Given the description of an element on the screen output the (x, y) to click on. 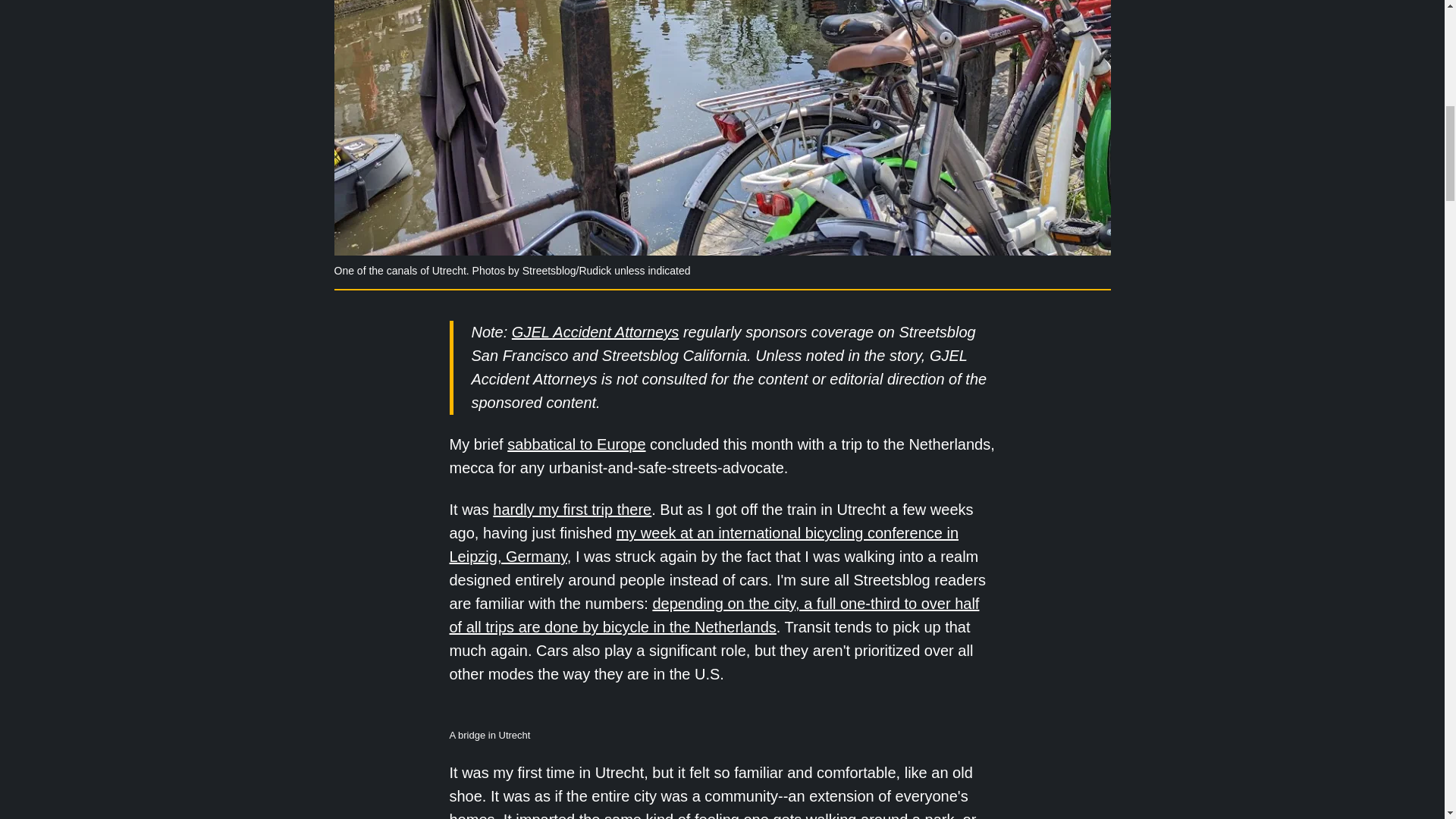
GJEL Accident Attorneys (595, 331)
hardly my first trip there (571, 509)
sabbatical to Europe (575, 443)
